Given the description of an element on the screen output the (x, y) to click on. 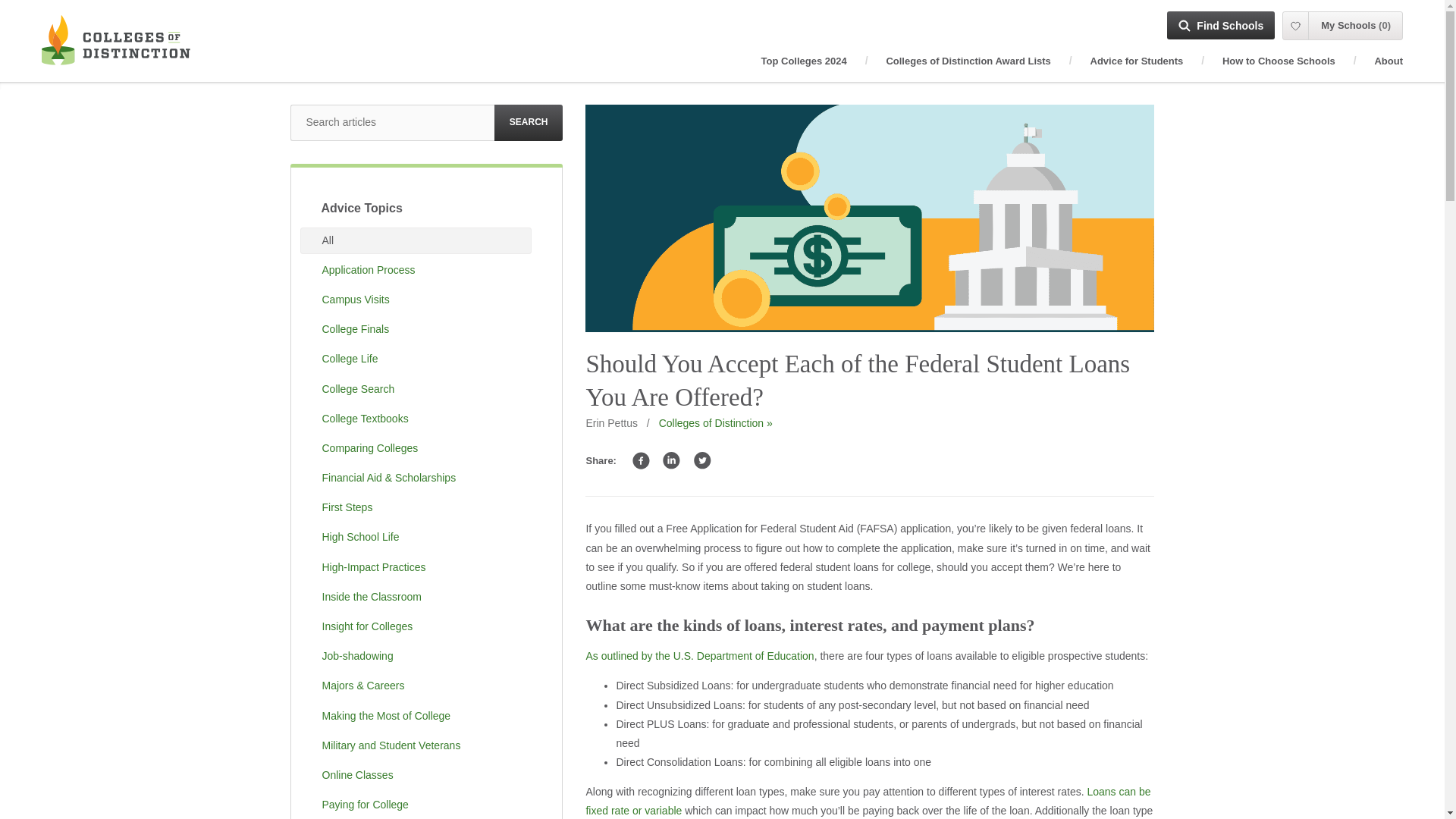
High School Life (415, 537)
College Finals (415, 329)
Find Schools (1221, 25)
High-Impact Practices (415, 567)
All (415, 240)
Comparing Colleges (415, 447)
College Search (415, 388)
Advice for Students (1136, 60)
College Life (415, 358)
Insight for Colleges (415, 626)
